Given the description of an element on the screen output the (x, y) to click on. 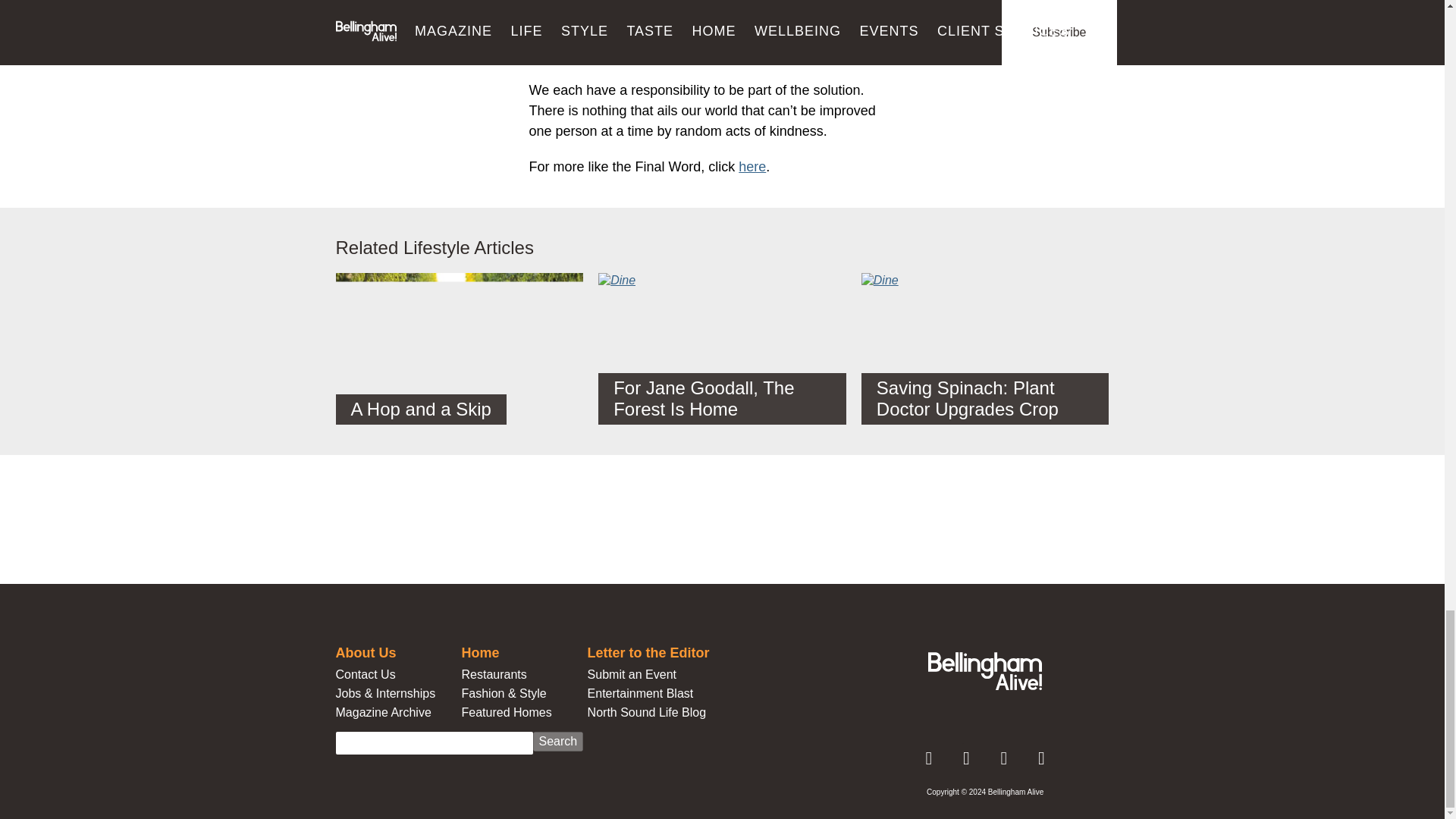
Saving Spinach: Plant Doctor Upgrades Crop (985, 348)
For Jane Goodall, The Forest Is Home (721, 348)
A Hop and a Skip (458, 356)
